Given the description of an element on the screen output the (x, y) to click on. 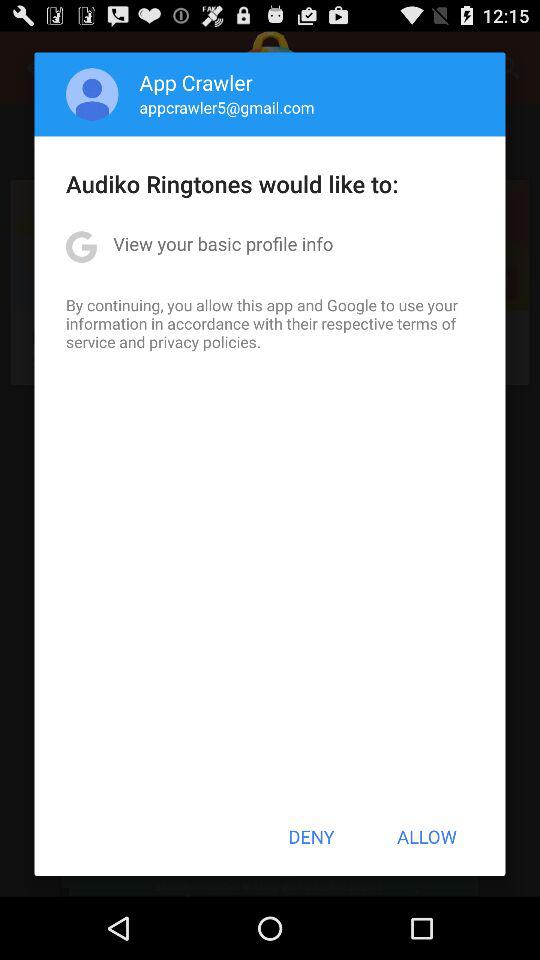
press the item above appcrawler5@gmail.com (195, 82)
